Given the description of an element on the screen output the (x, y) to click on. 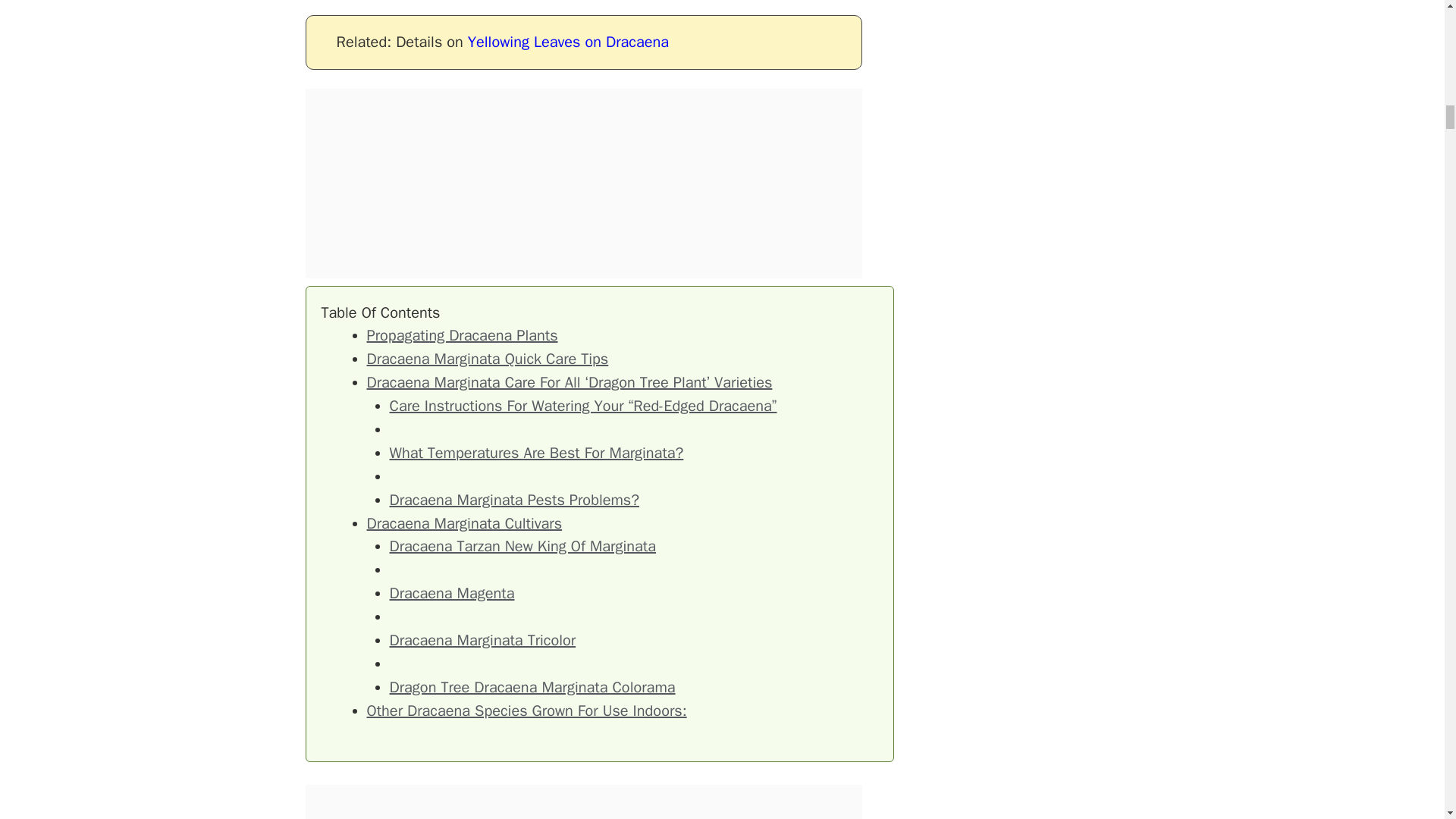
Yellowing Leaves on Dracaena (567, 41)
Propagating Dracaena Plants (461, 334)
Dracaena Marginata Quick Care Tips (487, 358)
Dragon Tree Dracaena Marginata Colorama (532, 687)
Dracaena Marginata Cultivars (464, 523)
Dracaena Marginata Pests Problems? (515, 499)
What Temperatures Are Best For Marginata? (537, 452)
Dracaena Marginata Tricolor (483, 640)
Other Dracaena Species Grown For Use Indoors: (526, 710)
Dracaena Tarzan New King Of Marginata (523, 546)
Dracaena Magenta (452, 592)
